Given the description of an element on the screen output the (x, y) to click on. 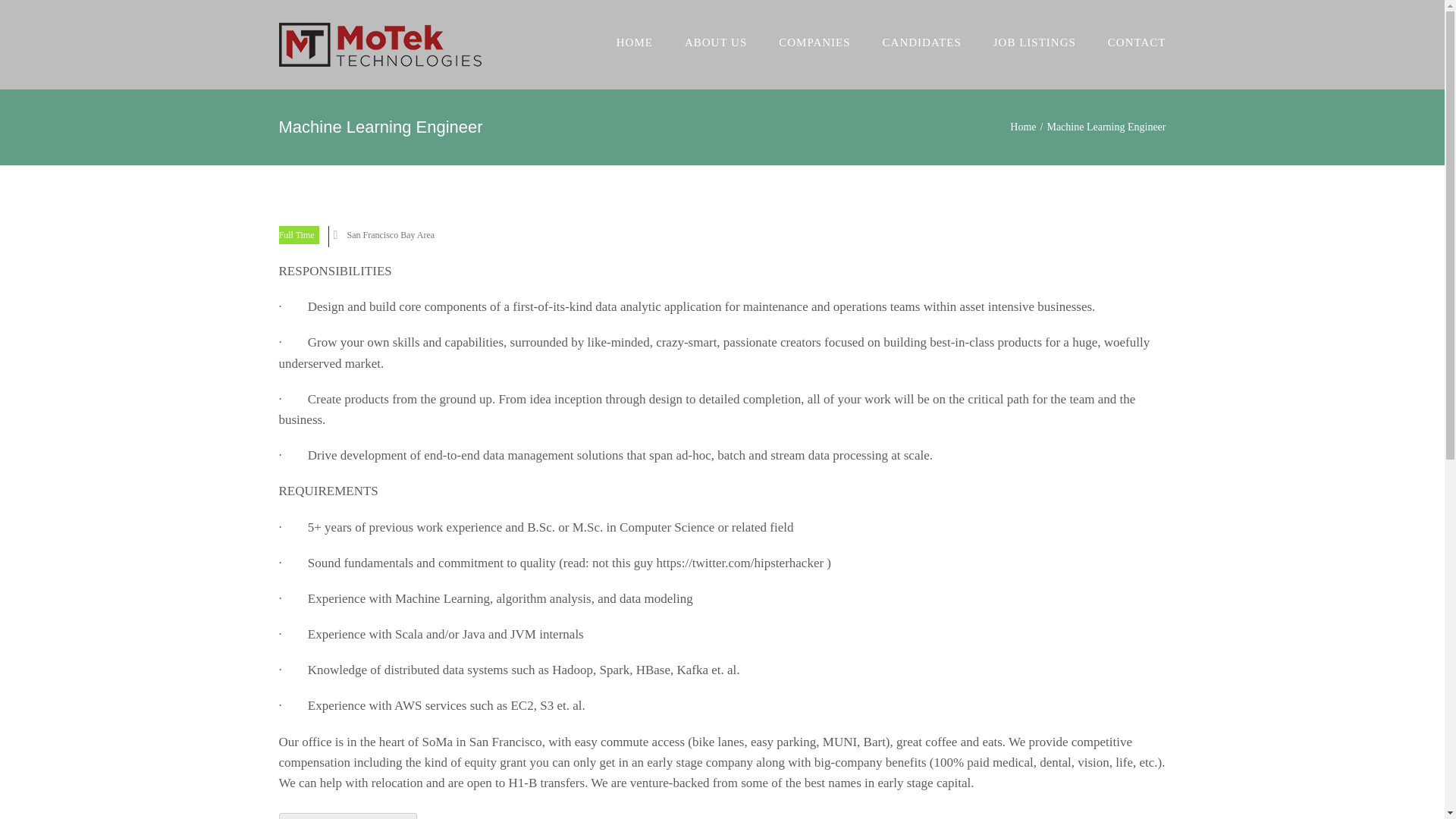
San Francisco Bay Area (391, 235)
Apply for job (348, 816)
CANDIDATES (921, 42)
Home (1022, 126)
JOB LISTINGS (1033, 42)
